Given the description of an element on the screen output the (x, y) to click on. 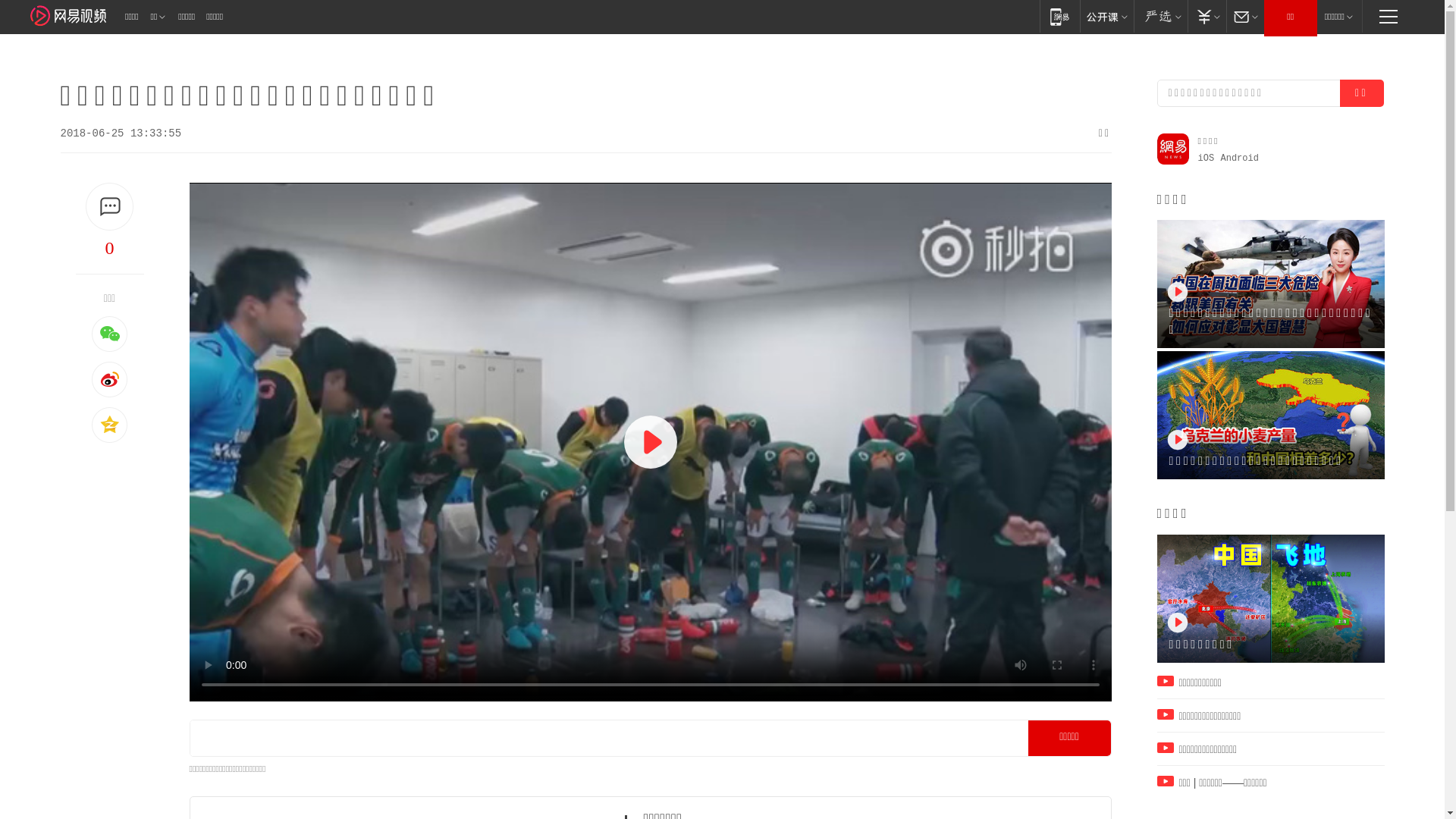
Android Element type: text (1239, 158)
0 Element type: text (109, 247)
iOS Element type: text (1206, 158)
